Given the description of an element on the screen output the (x, y) to click on. 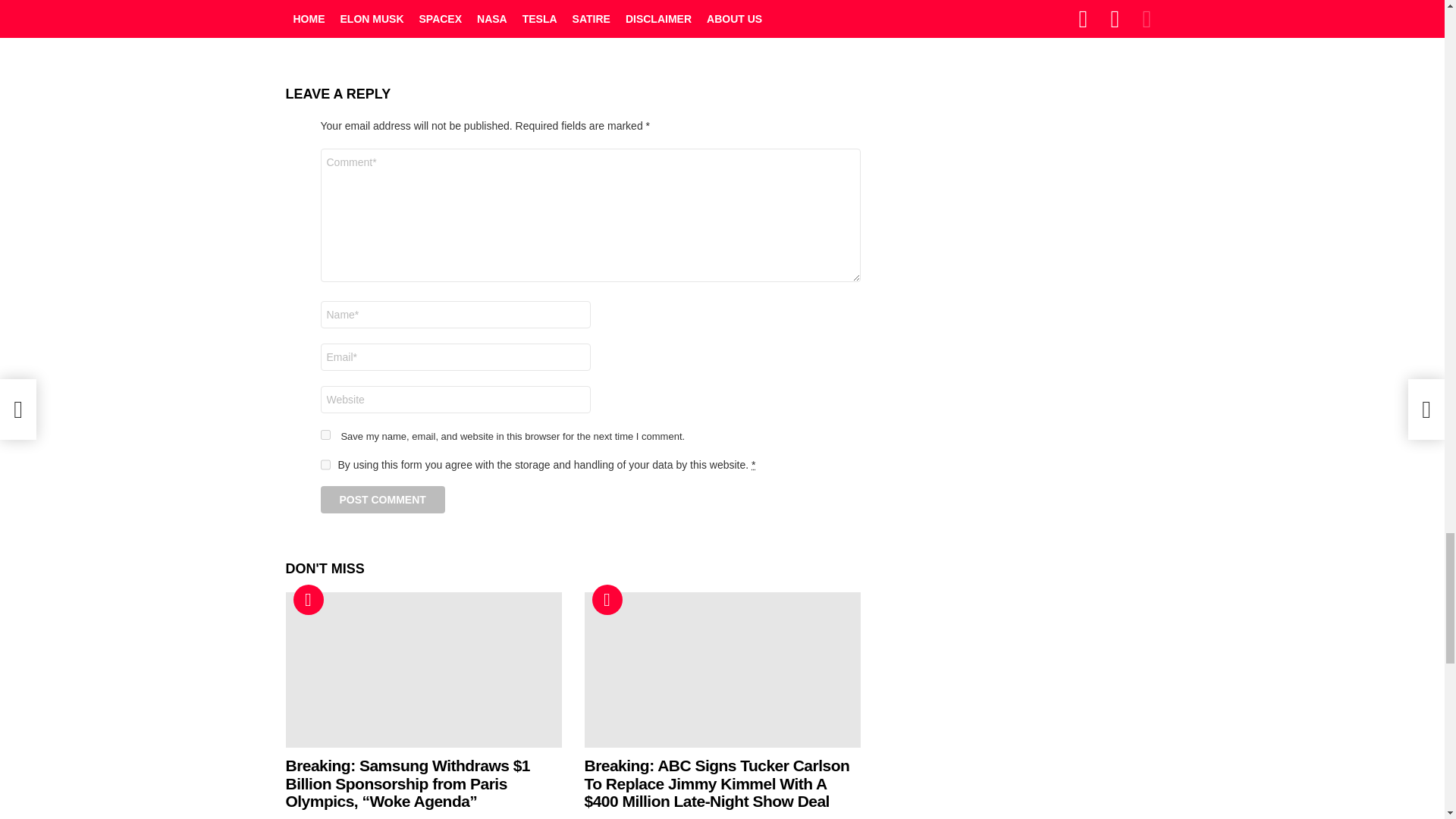
Hot (307, 599)
yes (325, 433)
Post Comment (382, 498)
Hot (606, 599)
